Given the description of an element on the screen output the (x, y) to click on. 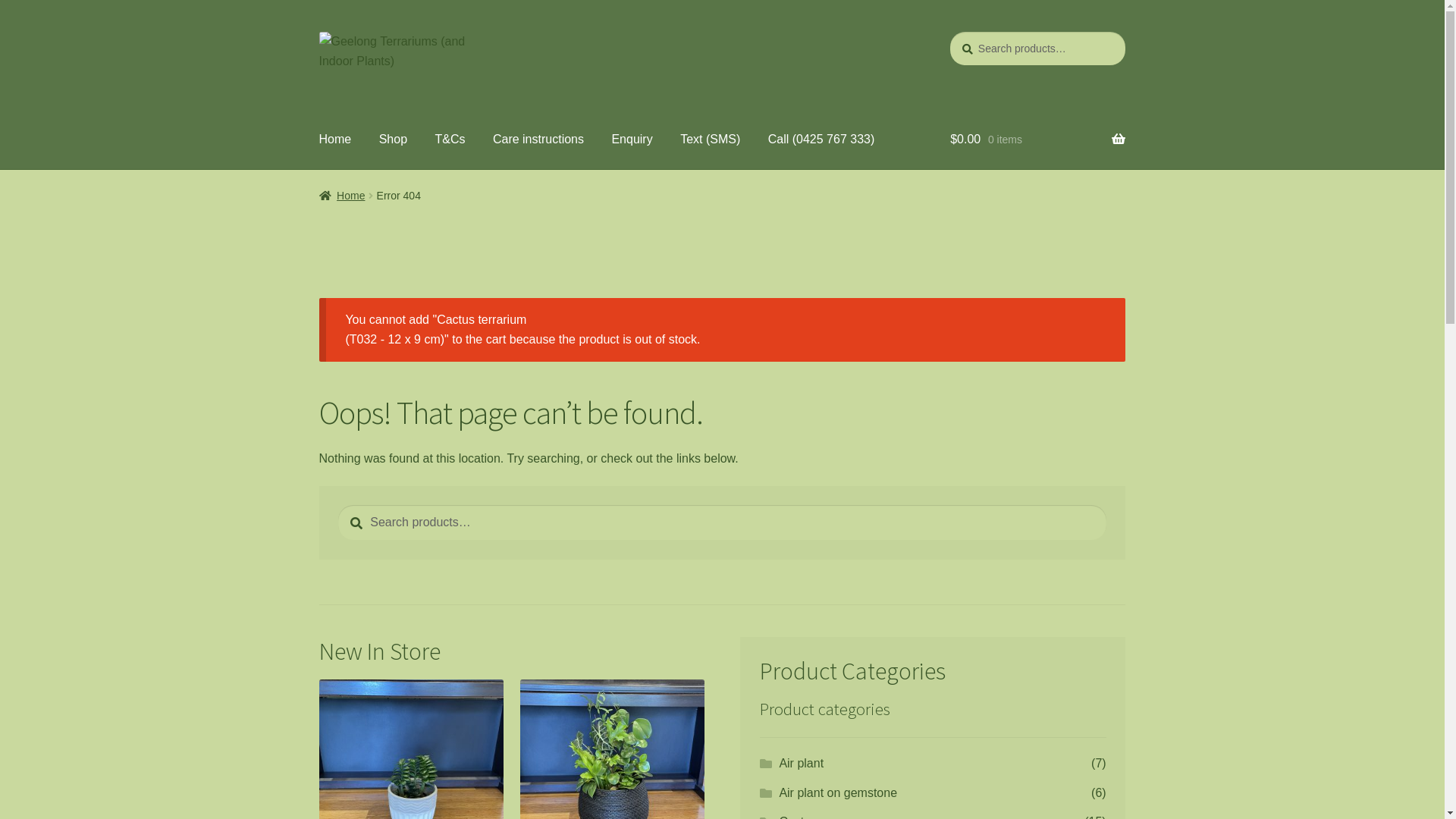
Text (SMS) Element type: text (710, 139)
Skip to navigation Element type: text (318, 31)
$0.00 0 items Element type: text (1037, 139)
Air plant on gemstone Element type: text (837, 792)
Search Element type: text (949, 31)
Call (0425 767 333) Element type: text (821, 139)
Shop Element type: text (393, 139)
Care instructions Element type: text (538, 139)
Home Element type: text (342, 195)
Search Element type: text (337, 504)
Air plant Element type: text (800, 762)
T&Cs Element type: text (449, 139)
Enquiry Element type: text (631, 139)
Home Element type: text (335, 139)
